Given the description of an element on the screen output the (x, y) to click on. 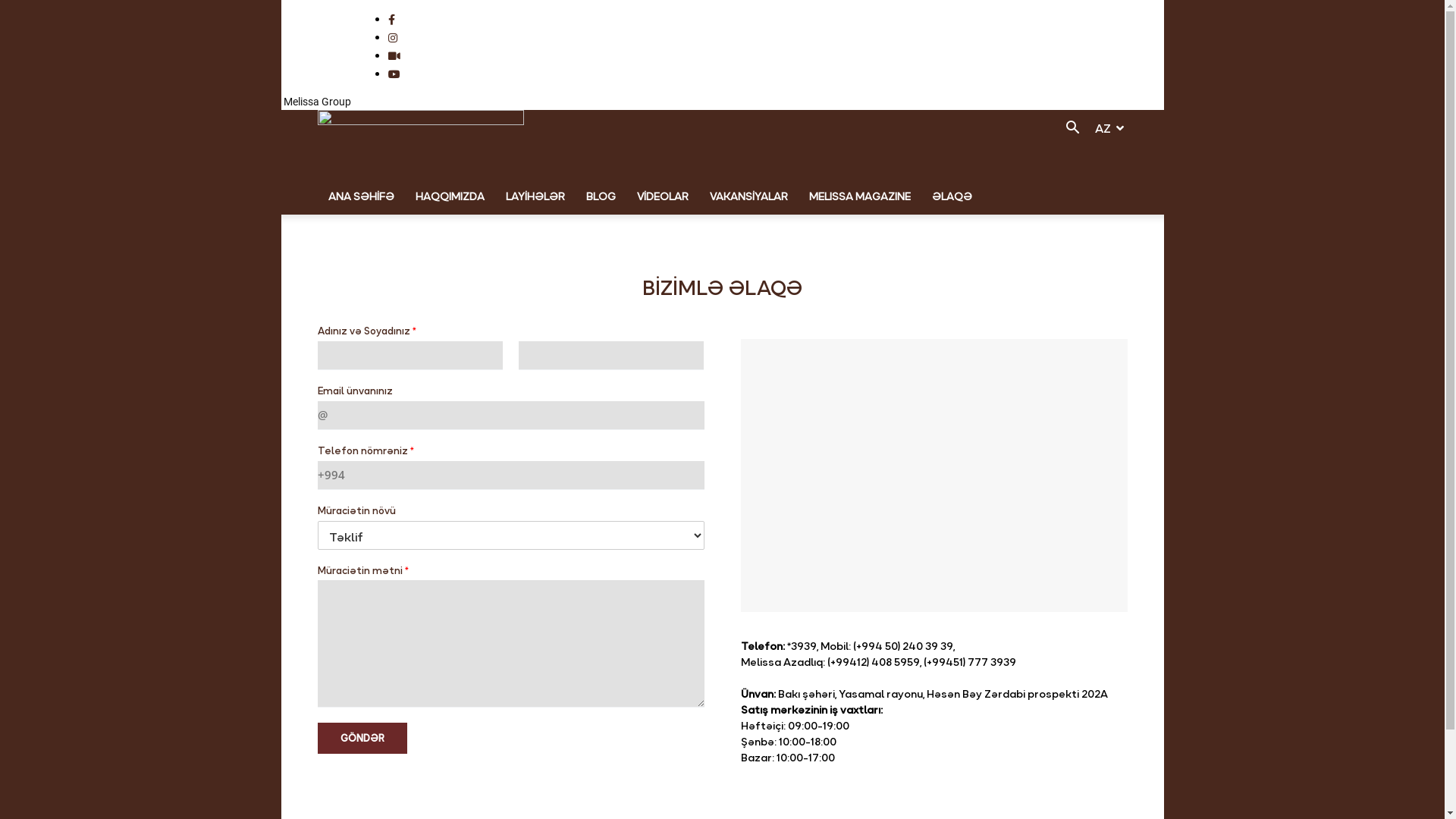
BLOG Element type: text (599, 196)
Axtar Element type: text (1086, 188)
HAQQIMIZDA Element type: text (449, 196)
MELISSA MAGAZINE Element type: text (858, 196)
Melissa Group Element type: text (315, 101)
